Given the description of an element on the screen output the (x, y) to click on. 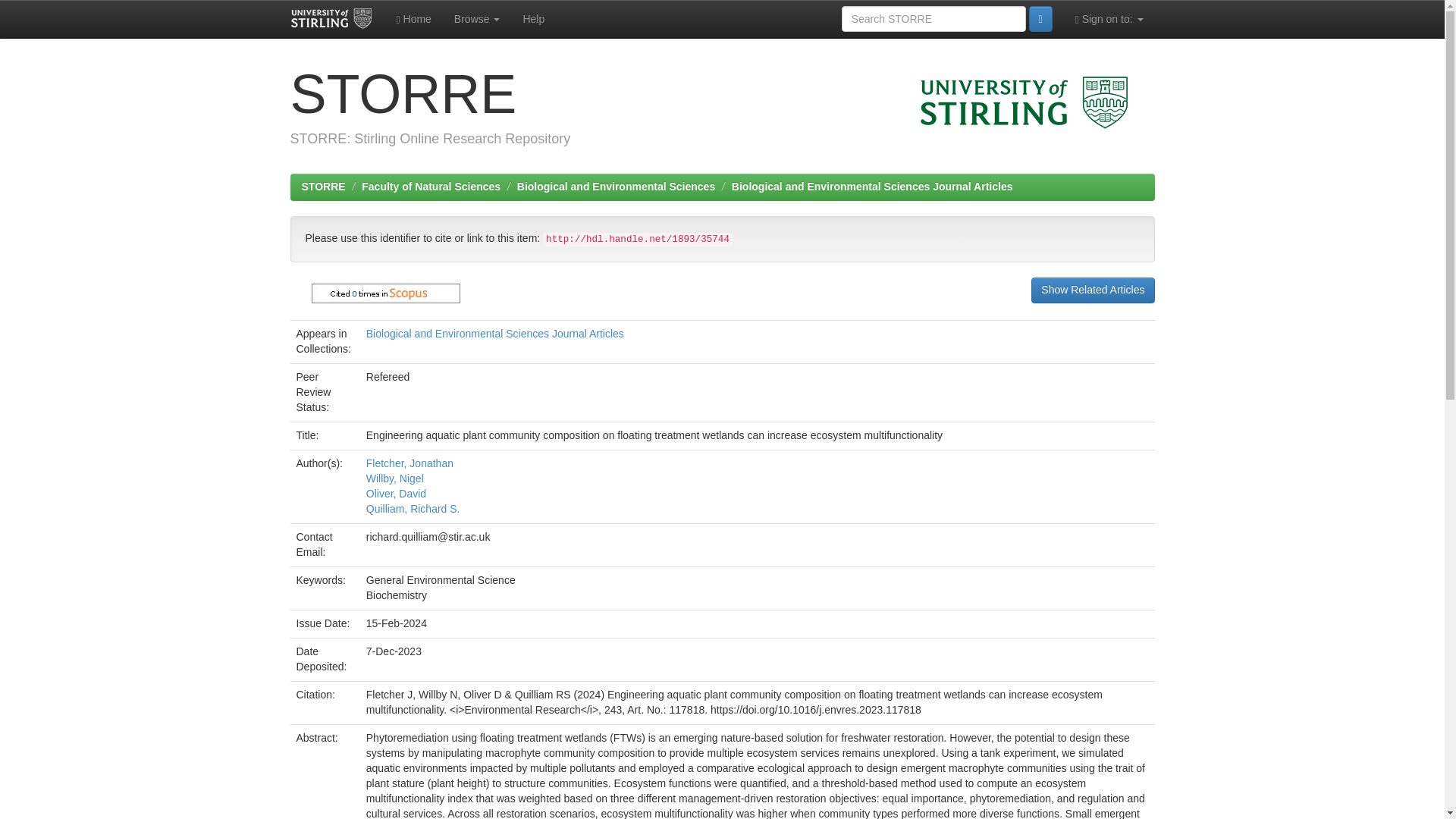
Biological and Environmental Sciences (615, 186)
Home (413, 18)
Sign on to: (1109, 18)
Help (533, 18)
Faculty of Natural Sciences (430, 186)
STORRE (323, 186)
Browse (477, 18)
Biological and Environmental Sciences Journal Articles (872, 186)
